Given the description of an element on the screen output the (x, y) to click on. 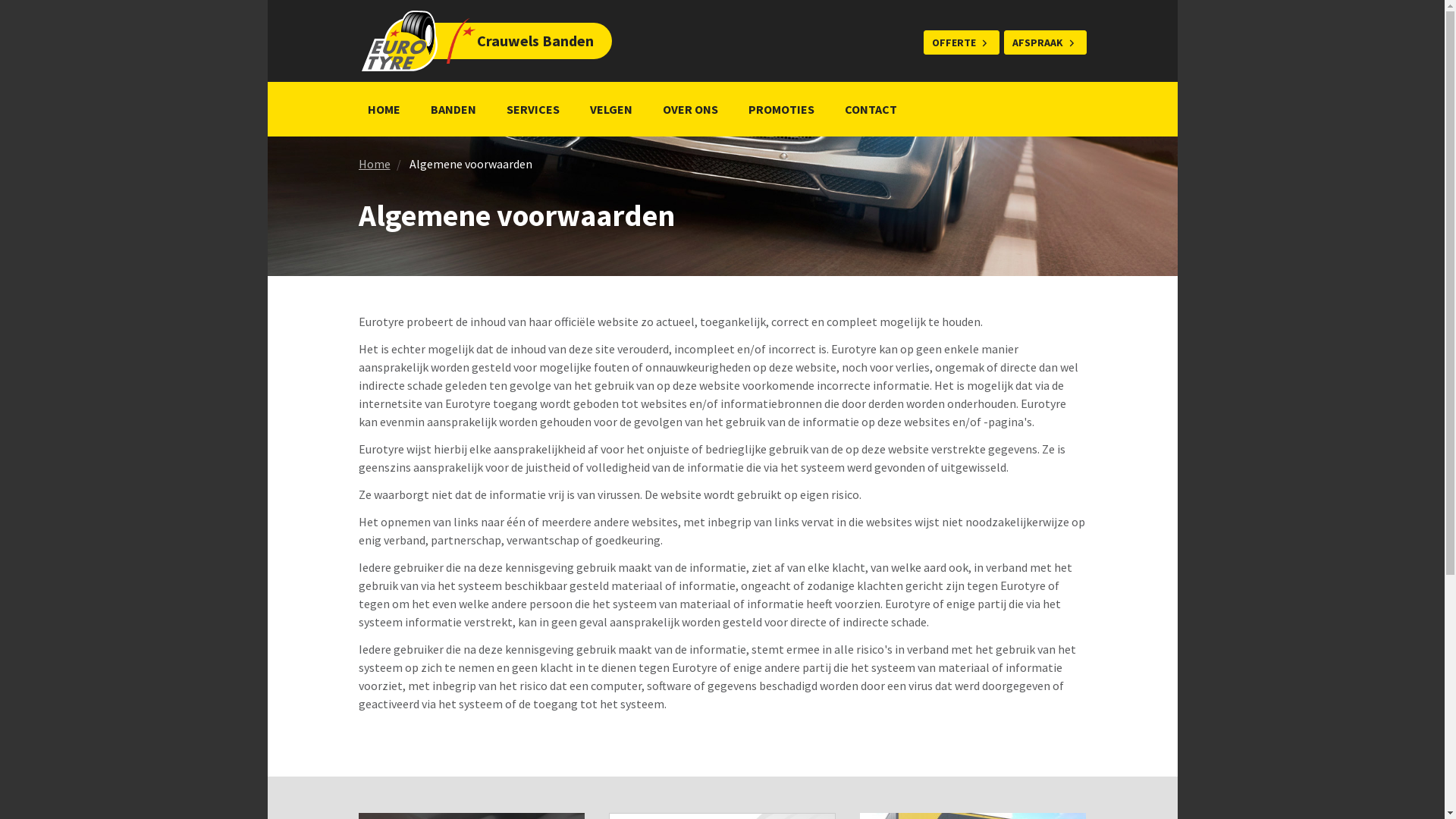
VELGEN Element type: text (610, 109)
PROMOTIES Element type: text (780, 109)
CONTACT Element type: text (870, 109)
Home Element type: text (373, 163)
AFSPRAAK Element type: text (1045, 42)
OFFERTE Element type: text (961, 42)
OVER ONS Element type: text (690, 109)
BANDEN Element type: text (453, 109)
SERVICES Element type: text (532, 109)
HOME Element type: text (382, 109)
Crauwels Banden Element type: text (461, 40)
Algemene voorwaarden Element type: text (470, 163)
